Given the description of an element on the screen output the (x, y) to click on. 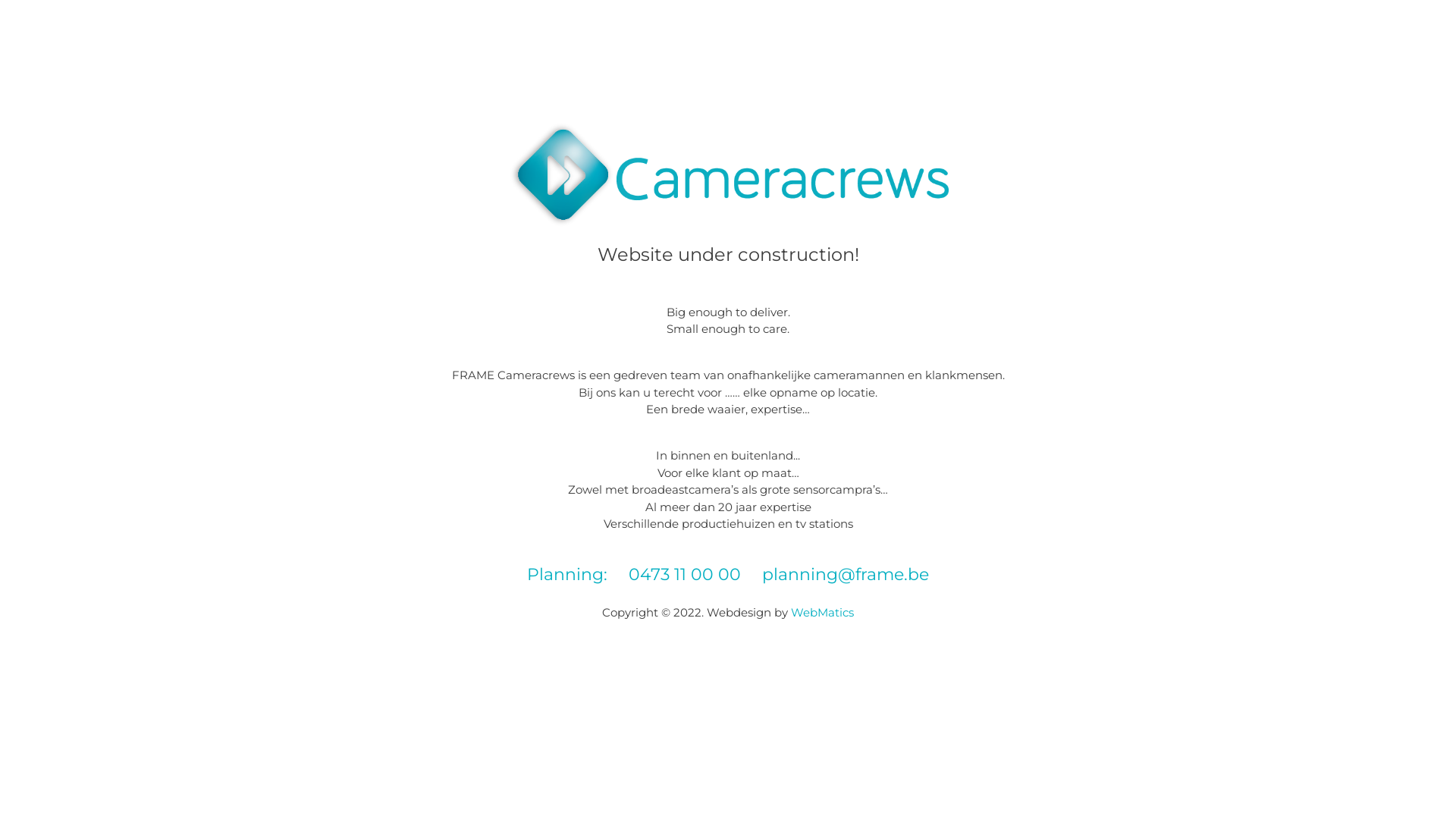
planning@frame.be Element type: text (845, 574)
0473 11 00 00 Element type: text (684, 574)
WebMatics Element type: text (821, 612)
